Given the description of an element on the screen output the (x, y) to click on. 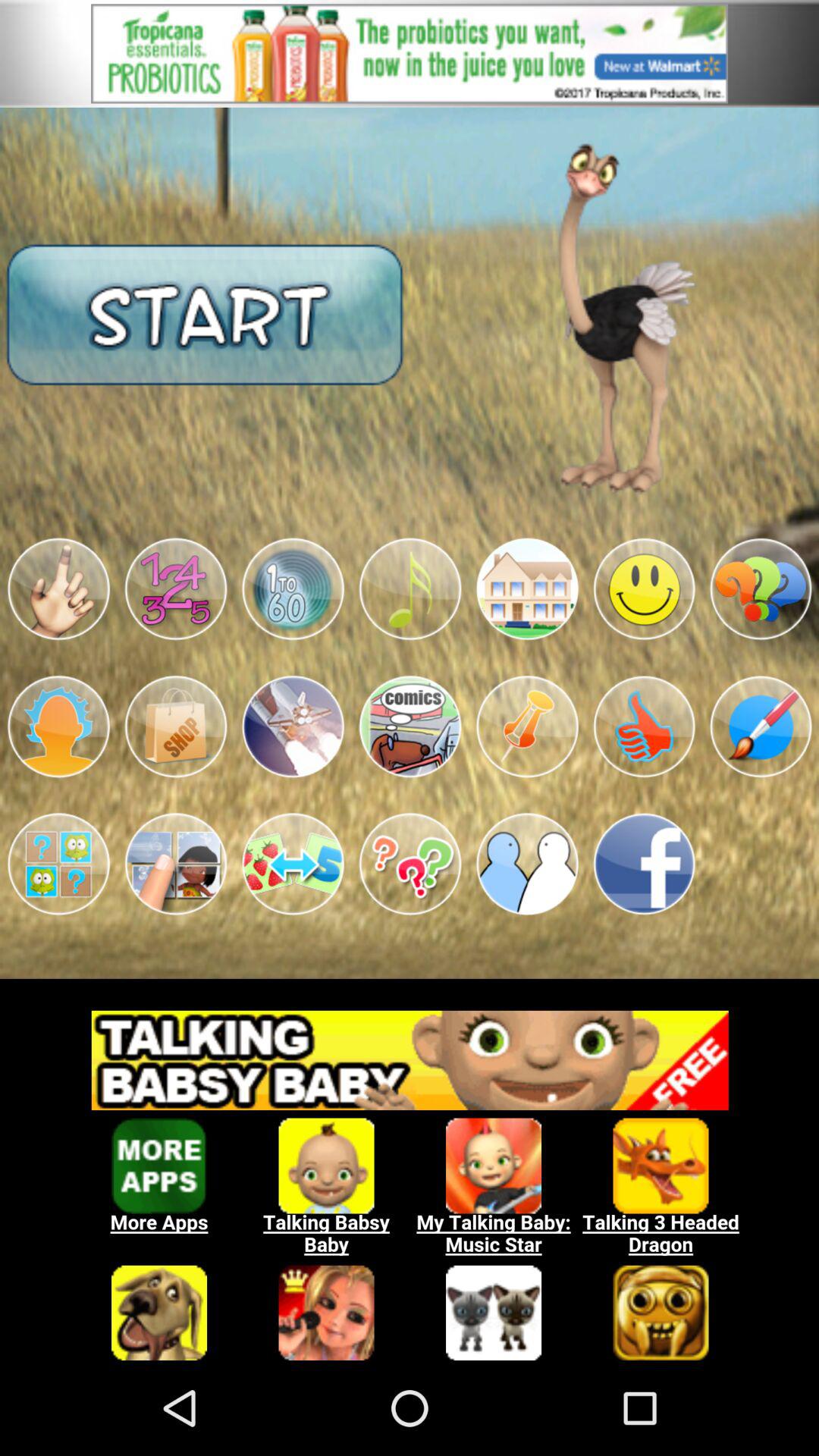
play 1 to 60 game (292, 589)
